Given the description of an element on the screen output the (x, y) to click on. 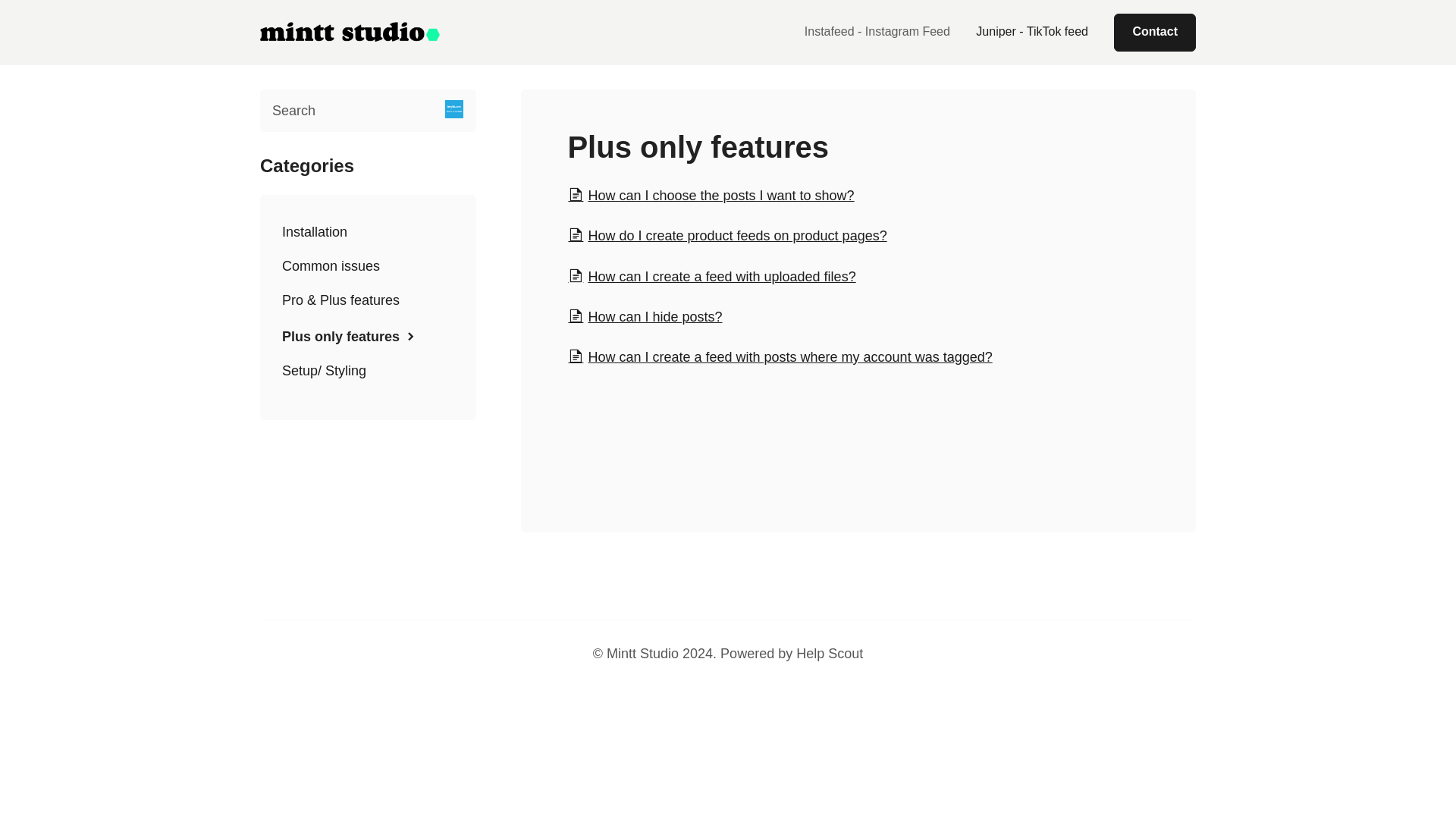
Instafeed - Instagram Feed (876, 31)
Help Scout (829, 653)
How can I create a feed with uploaded files? (711, 276)
How can I hide posts? (644, 316)
Common issues (331, 265)
How do I create product feeds on product pages? (726, 235)
How can I choose the posts I want to show? (710, 195)
Juniper - TikTok feed (1031, 31)
Installation (314, 232)
Plus only features (351, 335)
